Given the description of an element on the screen output the (x, y) to click on. 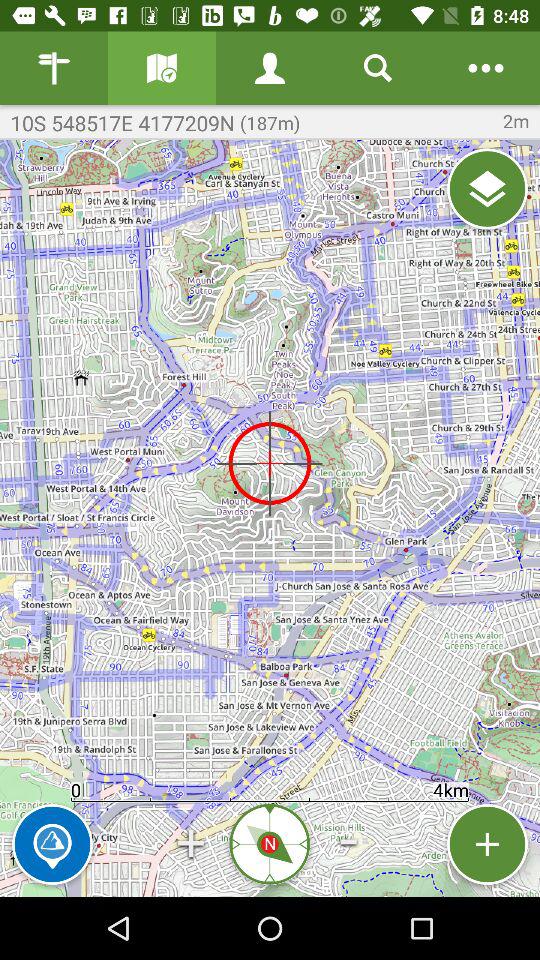
show more actions (486, 68)
